Given the description of an element on the screen output the (x, y) to click on. 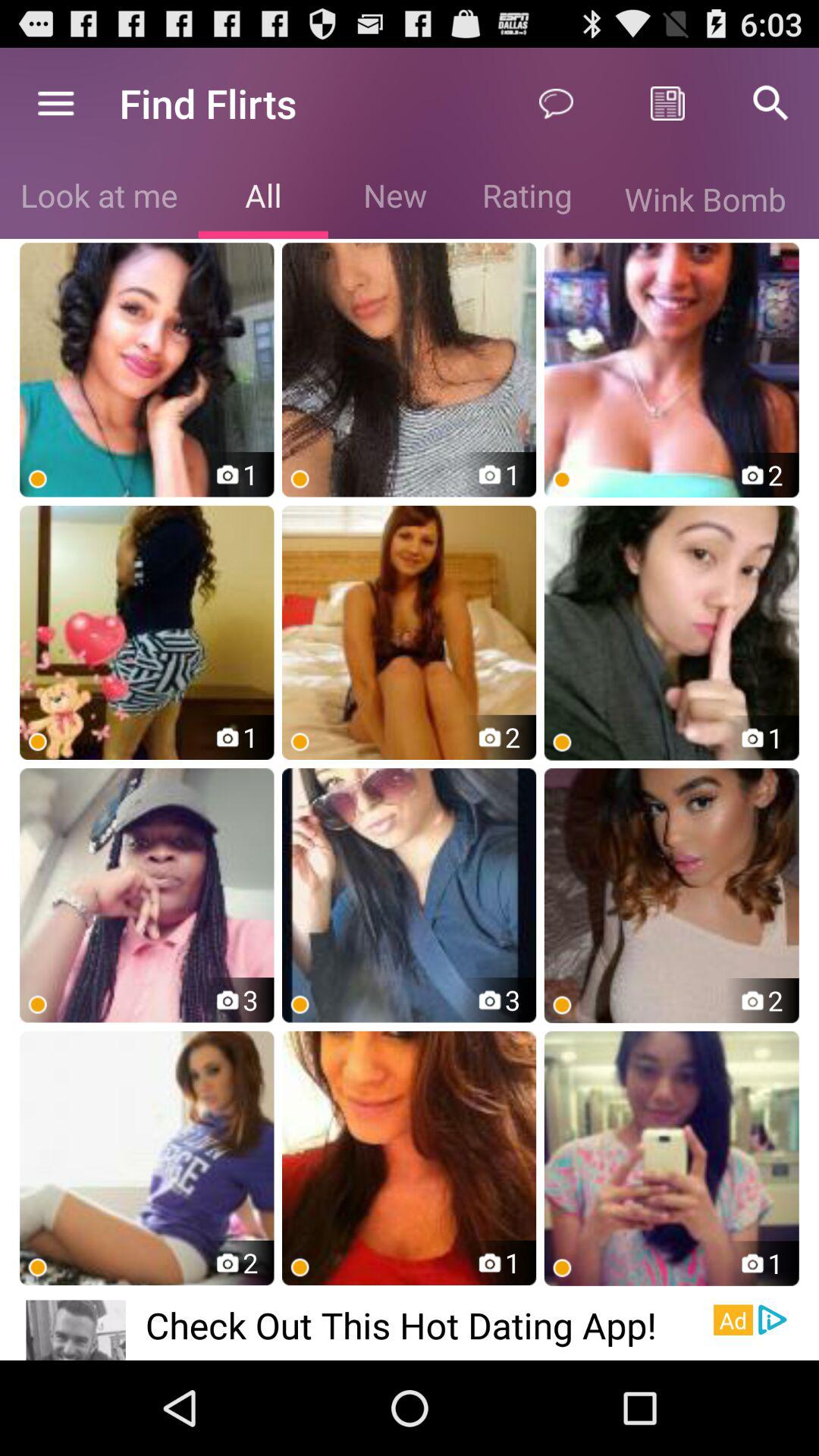
tap the rating item (527, 198)
